Given the description of an element on the screen output the (x, y) to click on. 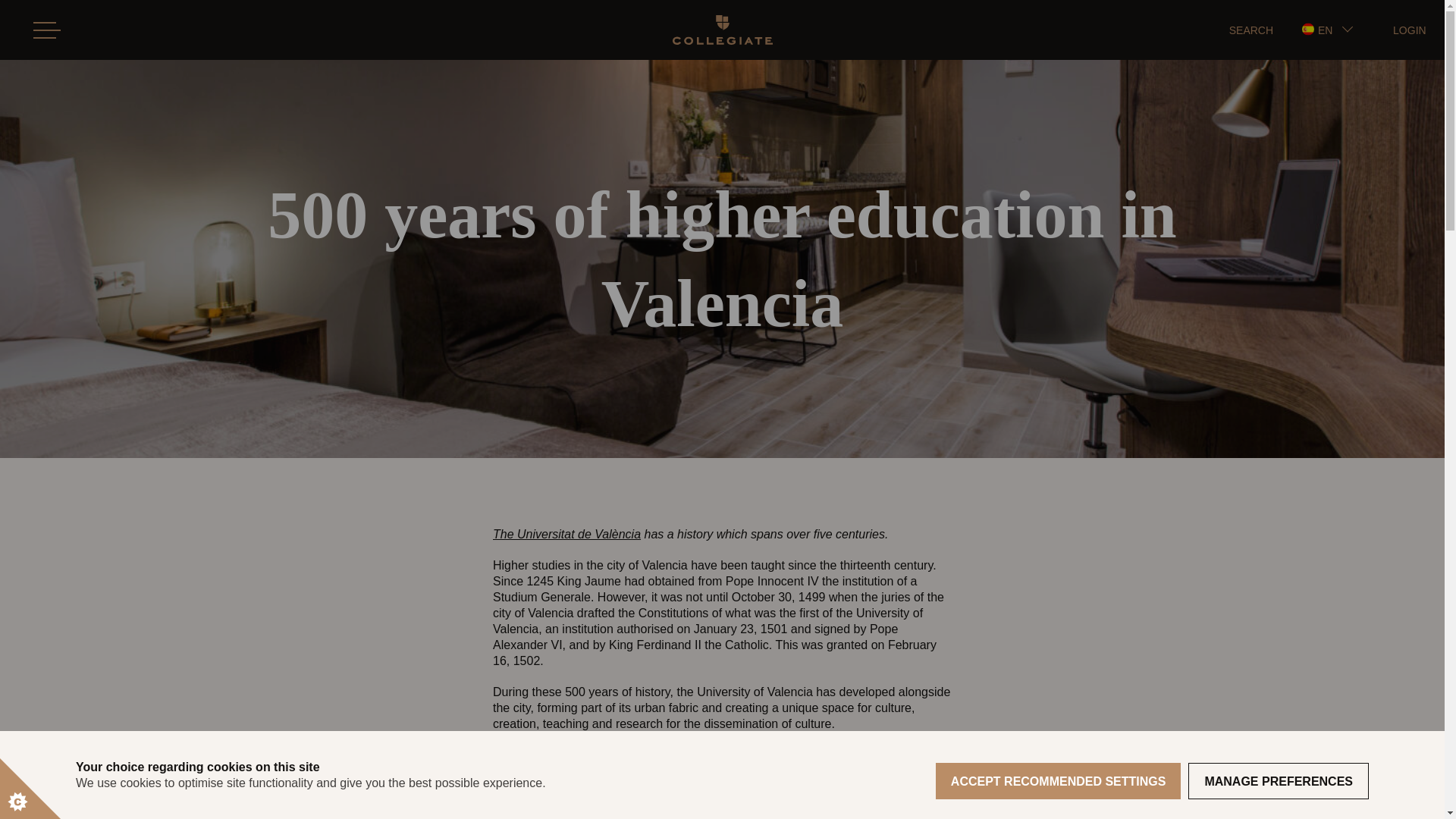
Homepage (721, 30)
LOGIN (1409, 29)
MANAGE PREFERENCES (1278, 780)
SEARCH (1250, 29)
Search (305, 89)
ACCEPT RECOMMENDED SETTINGS (1058, 780)
